Given the description of an element on the screen output the (x, y) to click on. 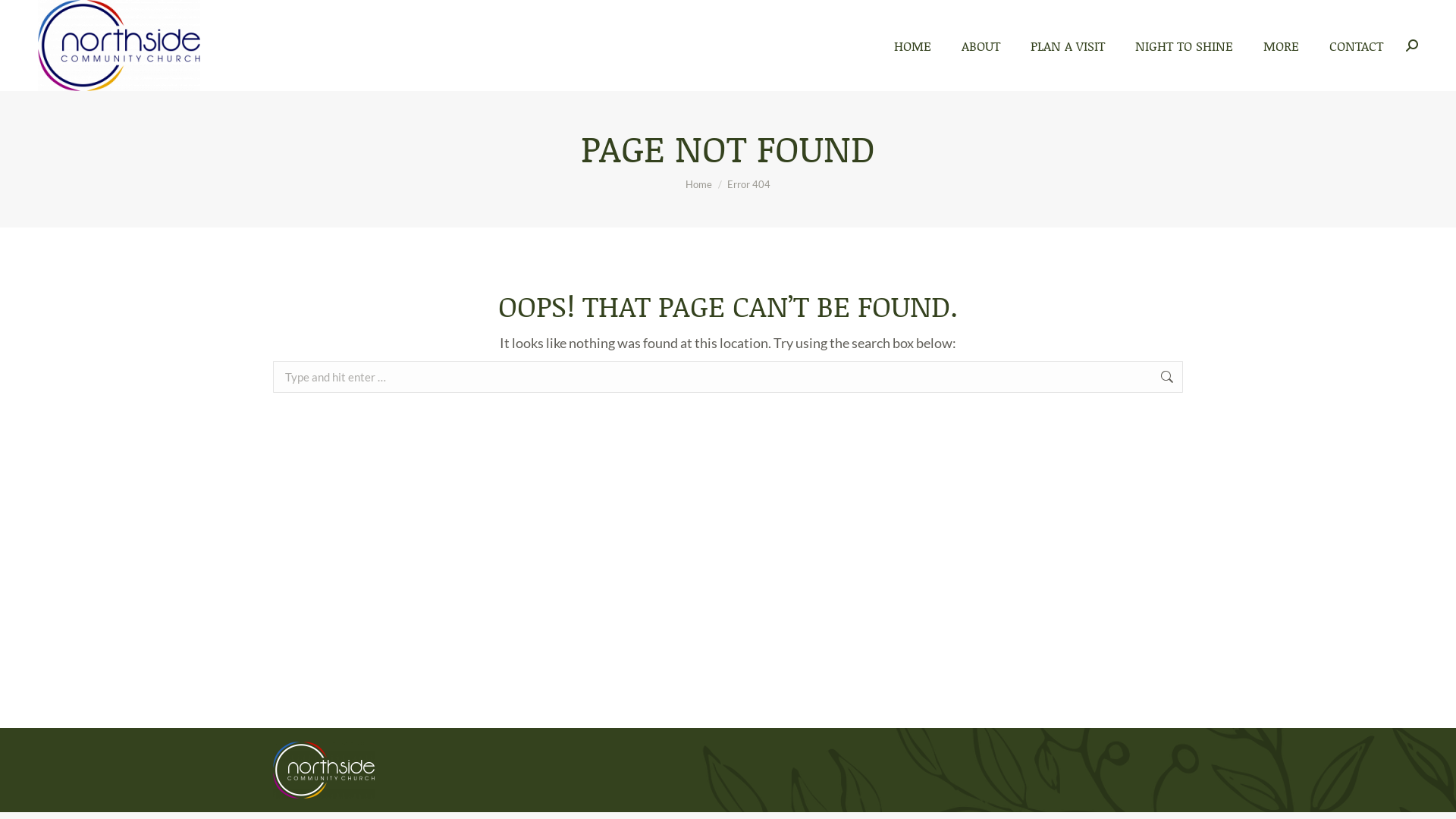
Home Element type: text (698, 183)
ABOUT Element type: text (980, 45)
HOME Element type: text (912, 45)
PLAN A VISIT Element type: text (1067, 45)
Go! Element type: text (1206, 377)
NIGHT TO SHINE Element type: text (1184, 45)
Go! Element type: text (23, 16)
MORE Element type: text (1281, 45)
CONTACT Element type: text (1356, 45)
